Given the description of an element on the screen output the (x, y) to click on. 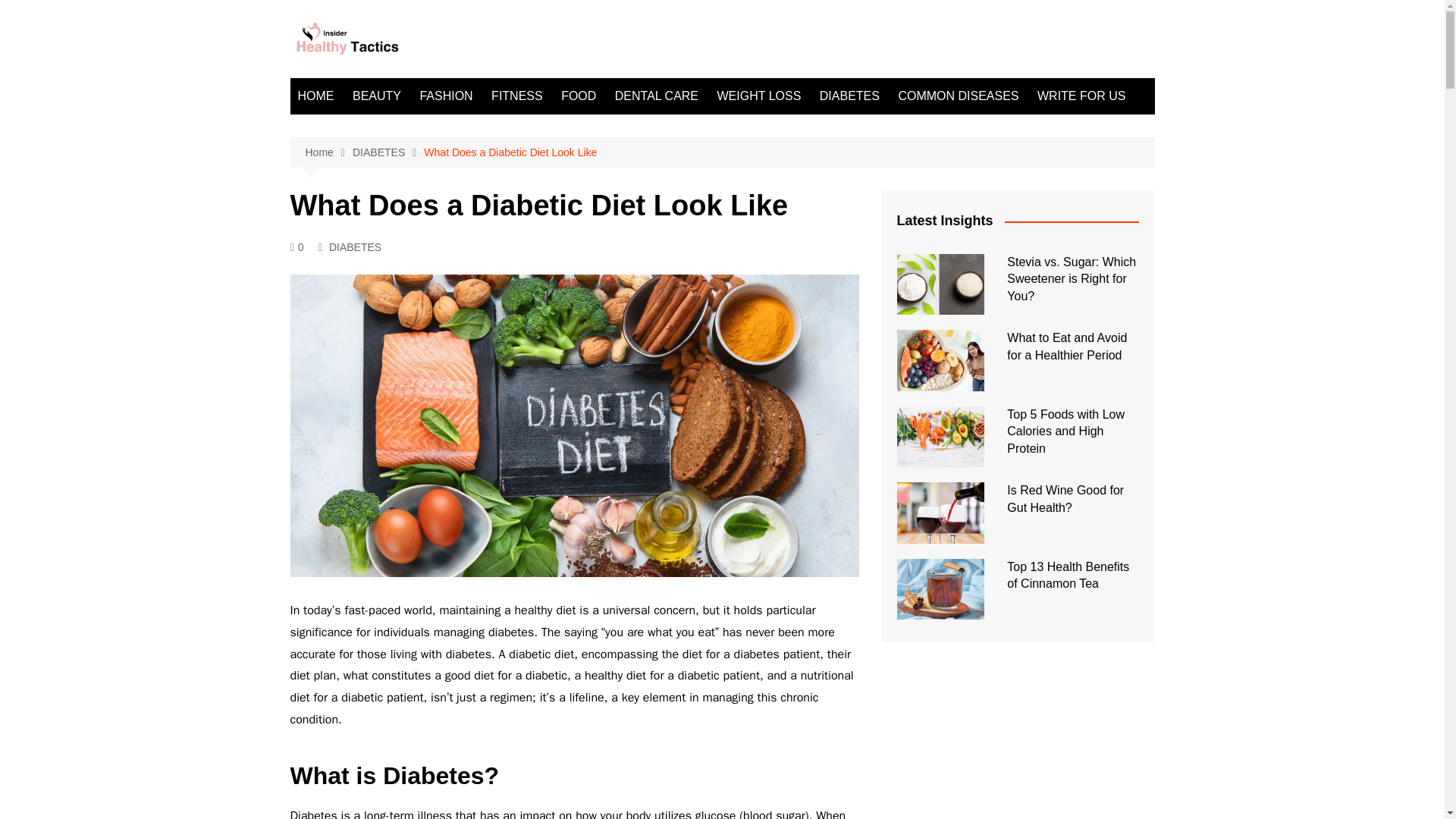
Top 5 Foods with Low Calories and High Protein (1065, 431)
HOME (314, 95)
FITNESS (516, 95)
BEAUTY (377, 95)
What Does a Diabetic Diet Look Like (509, 152)
COMMON DISEASES (957, 95)
WEIGHT LOSS (759, 95)
DENTAL CARE (656, 95)
FOOD (578, 95)
Stevia vs. Sugar: Which Sweetener is Right for You? (1071, 278)
0 (295, 247)
DIABETES (355, 247)
DIABETES (387, 152)
WRITE FOR US (1080, 95)
Top 13 Health Benefits of Cinnamon Tea  (1068, 574)
